Given the description of an element on the screen output the (x, y) to click on. 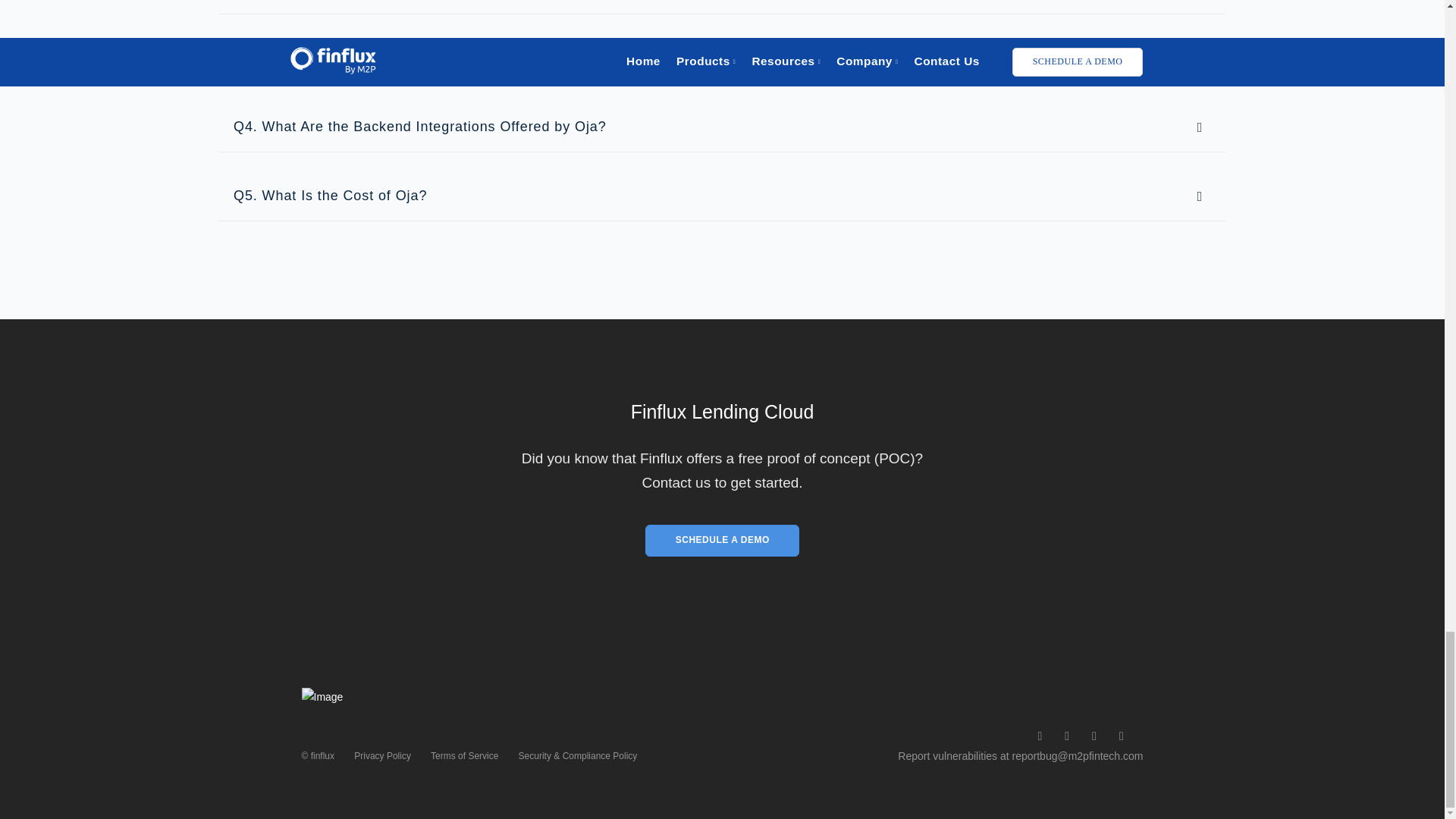
Terms of Service (463, 756)
SCHEDULE A DEMO (722, 540)
Privacy Policy (381, 756)
